Given the description of an element on the screen output the (x, y) to click on. 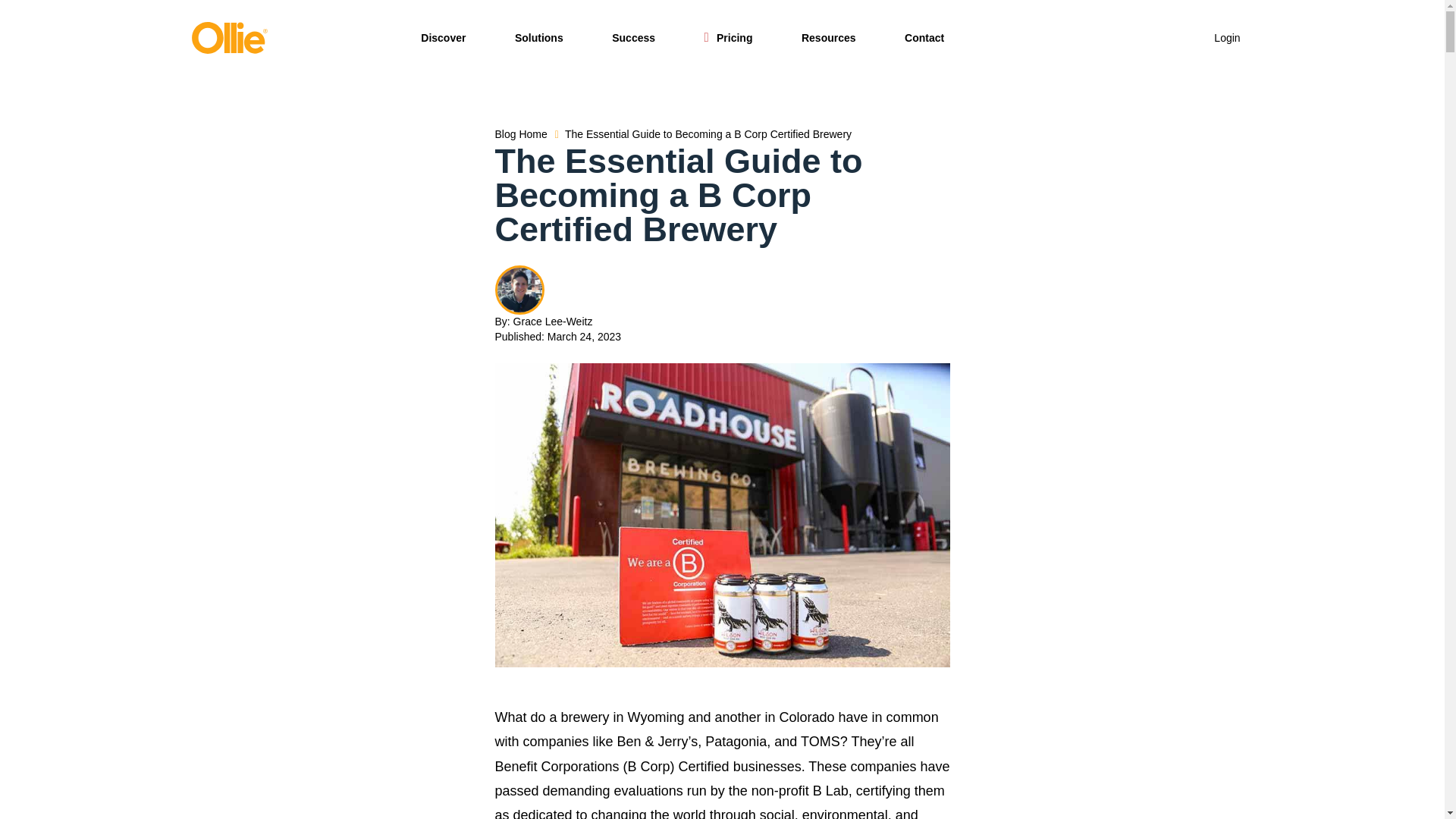
By: Grace Lee-Weitz (722, 322)
Contact (924, 37)
Blog Home (522, 134)
Pricing (728, 37)
Login (1226, 37)
The Essential Guide to Becoming a B Corp Certified Brewery (710, 134)
